Given the description of an element on the screen output the (x, y) to click on. 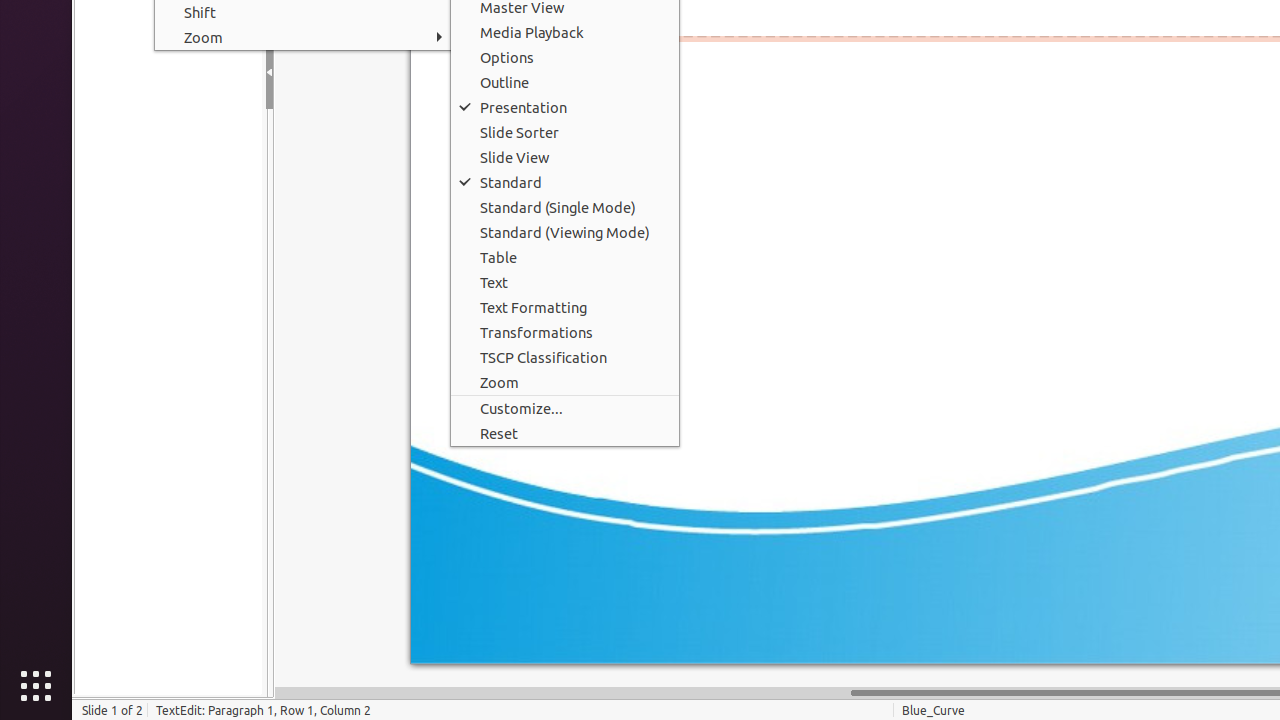
Zoom Element type: check-menu-item (565, 382)
Standard (Viewing Mode) Element type: check-menu-item (565, 232)
Reset Element type: menu-item (565, 433)
Outline Element type: check-menu-item (565, 82)
Zoom Element type: menu (304, 37)
